Given the description of an element on the screen output the (x, y) to click on. 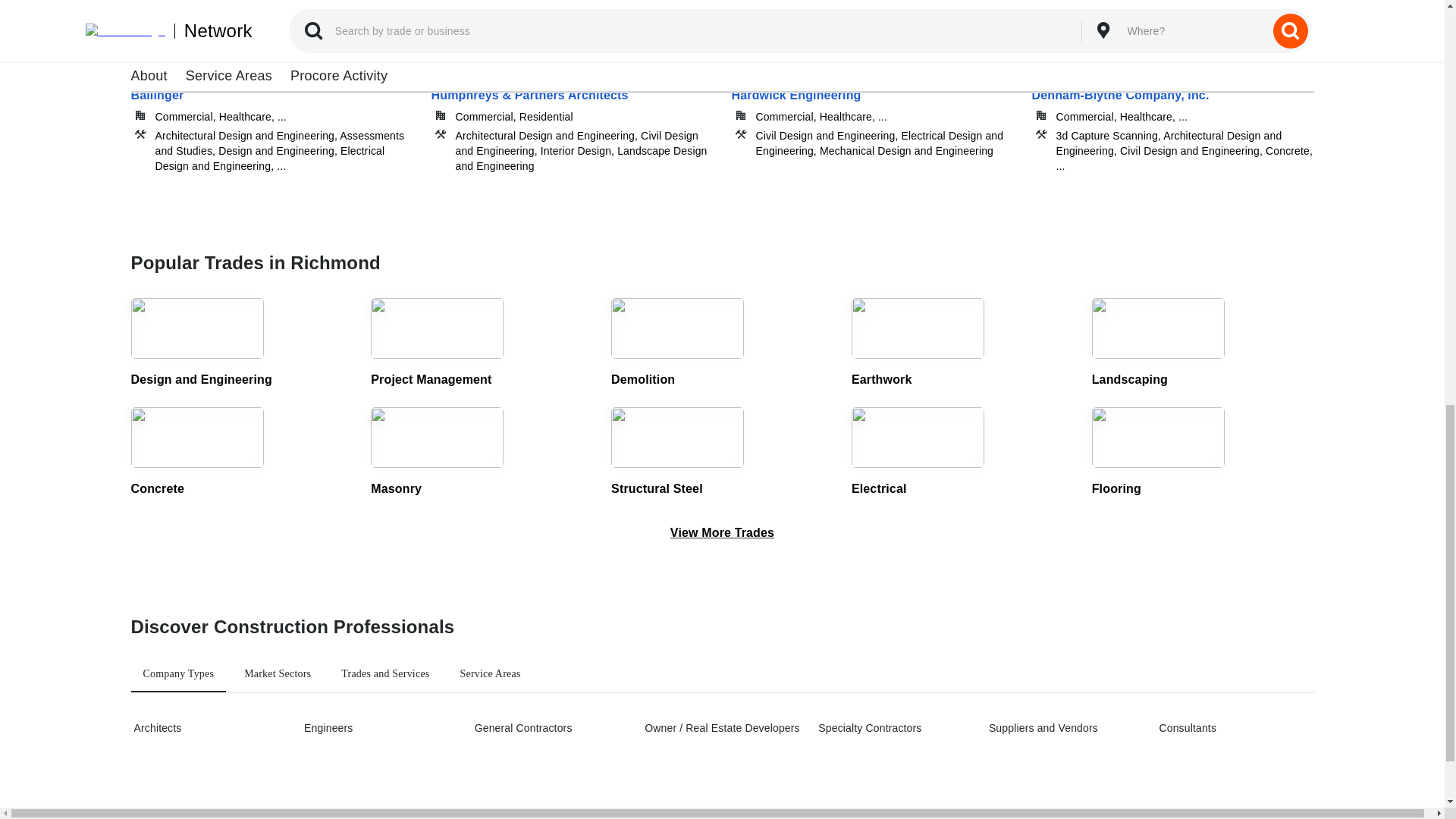
Concrete (241, 452)
Suppliers and Vendors (1064, 727)
Design and Engineering (241, 343)
Service Areas (489, 674)
Consultants (1234, 727)
Architects (209, 727)
Structural Steel (721, 452)
Ballinger (271, 118)
Landscaping (1203, 343)
Trades and Services (385, 674)
Engineers (379, 727)
Specialty Contractors (893, 727)
Denham-Blythe Company, Inc. (1171, 118)
Market Sectors (277, 674)
